Given the description of an element on the screen output the (x, y) to click on. 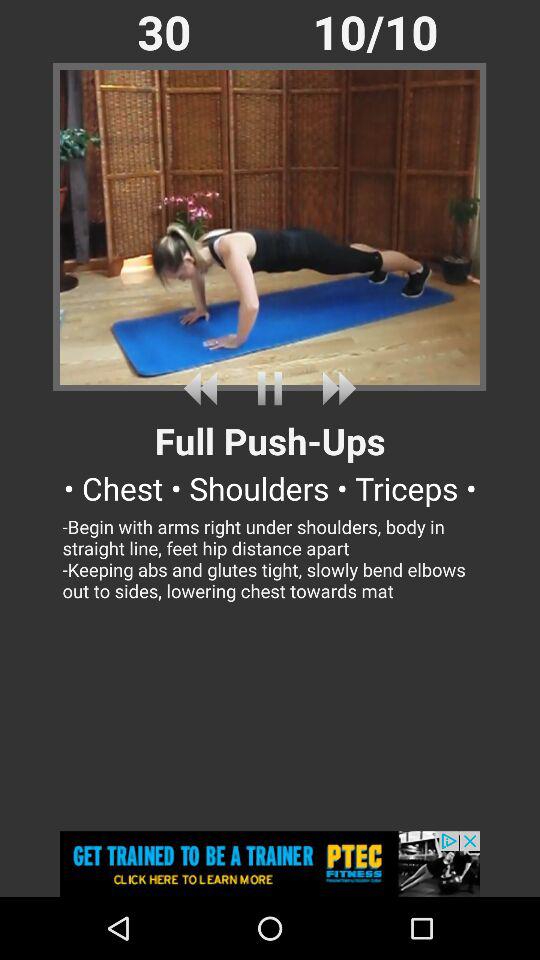
fast forward (335, 388)
